Given the description of an element on the screen output the (x, y) to click on. 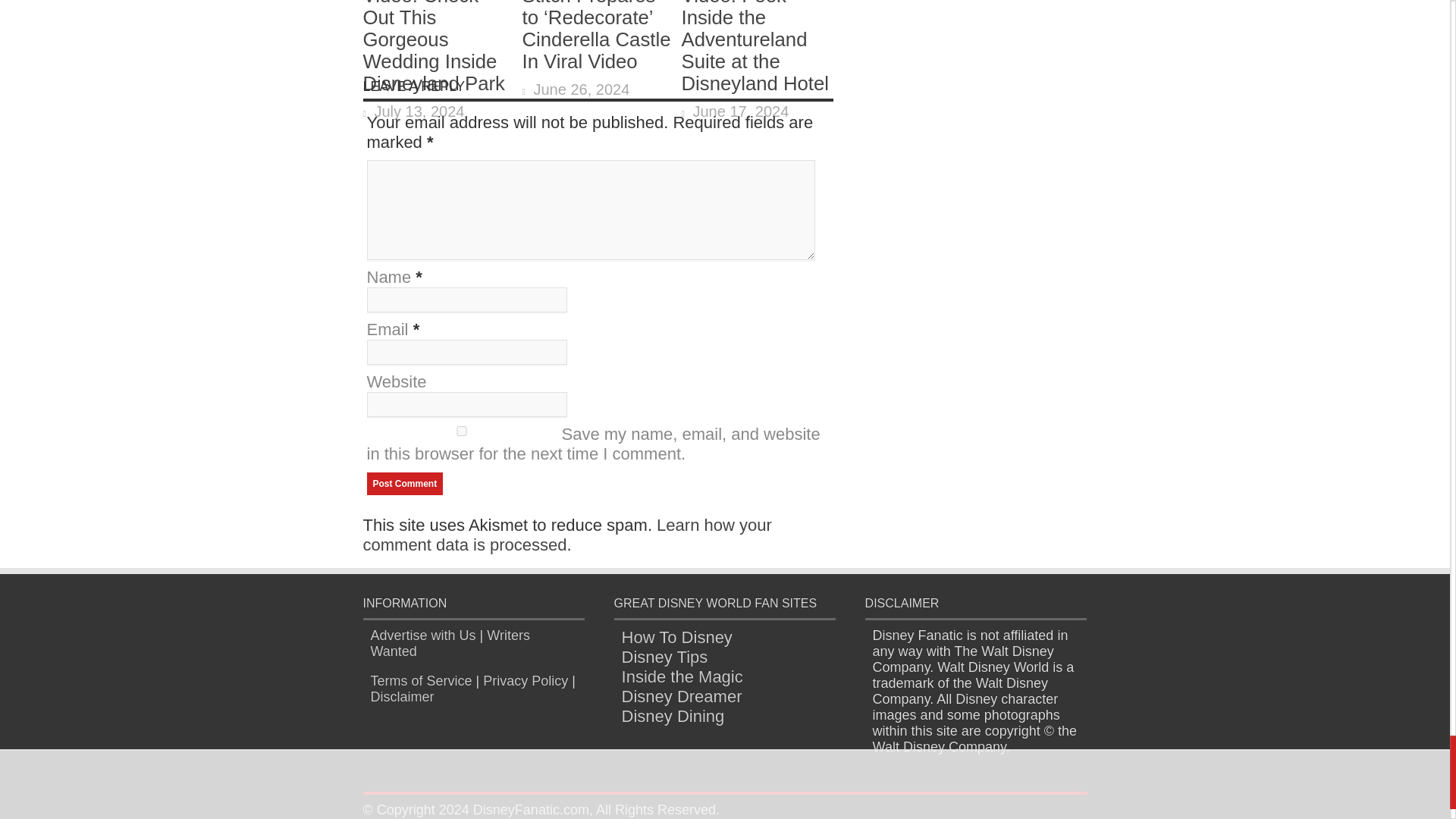
yes (461, 430)
Post Comment (405, 483)
